Given the description of an element on the screen output the (x, y) to click on. 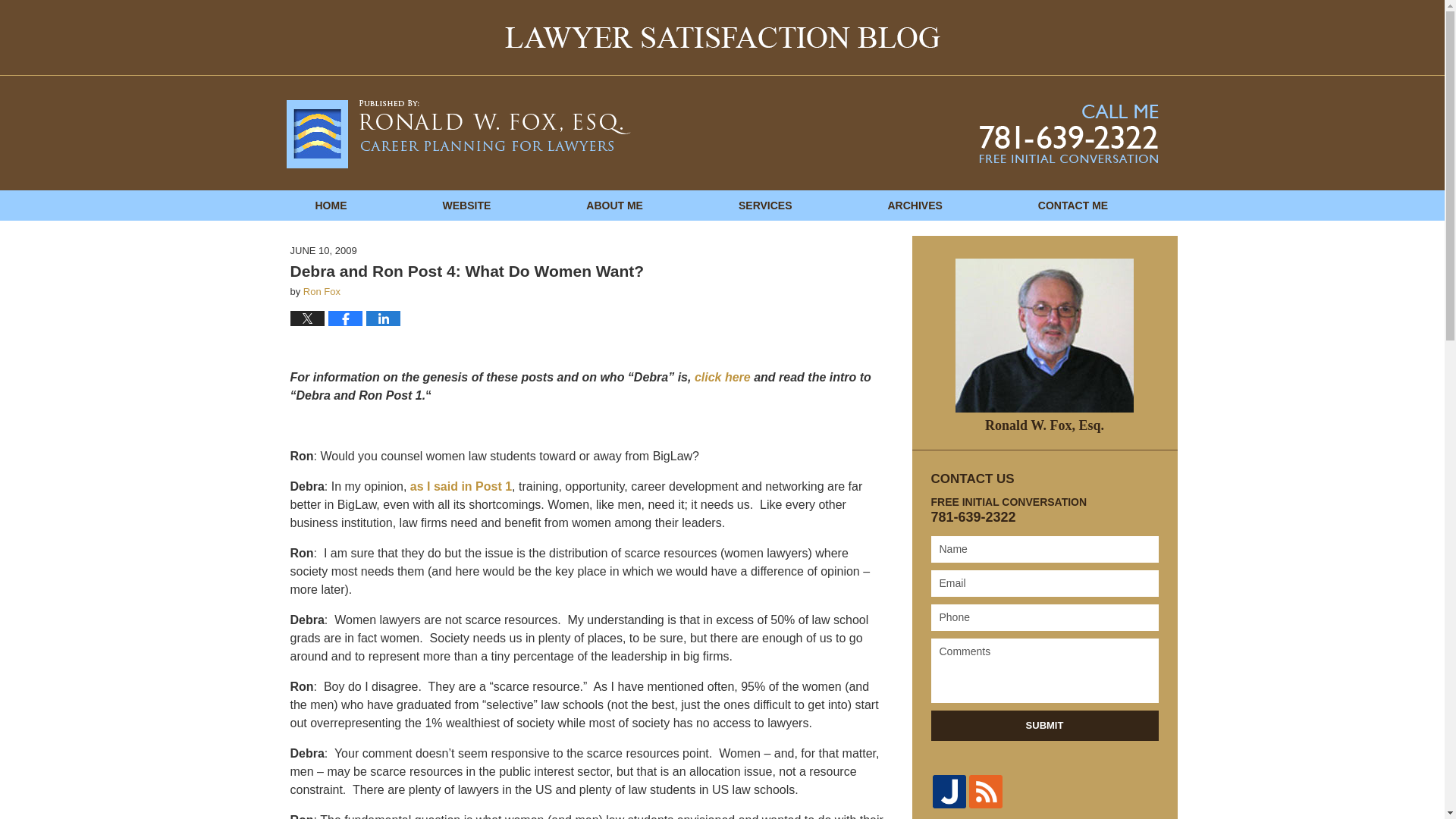
SUBMIT (1044, 725)
CONTACT ME (1073, 205)
Please enter a valid phone number. (1044, 617)
Ron Fox (321, 291)
as I said in Post 1 (461, 486)
Feed (986, 791)
Justia (949, 791)
ABOUT ME (614, 205)
ARCHIVES (915, 205)
click here (722, 377)
